Given the description of an element on the screen output the (x, y) to click on. 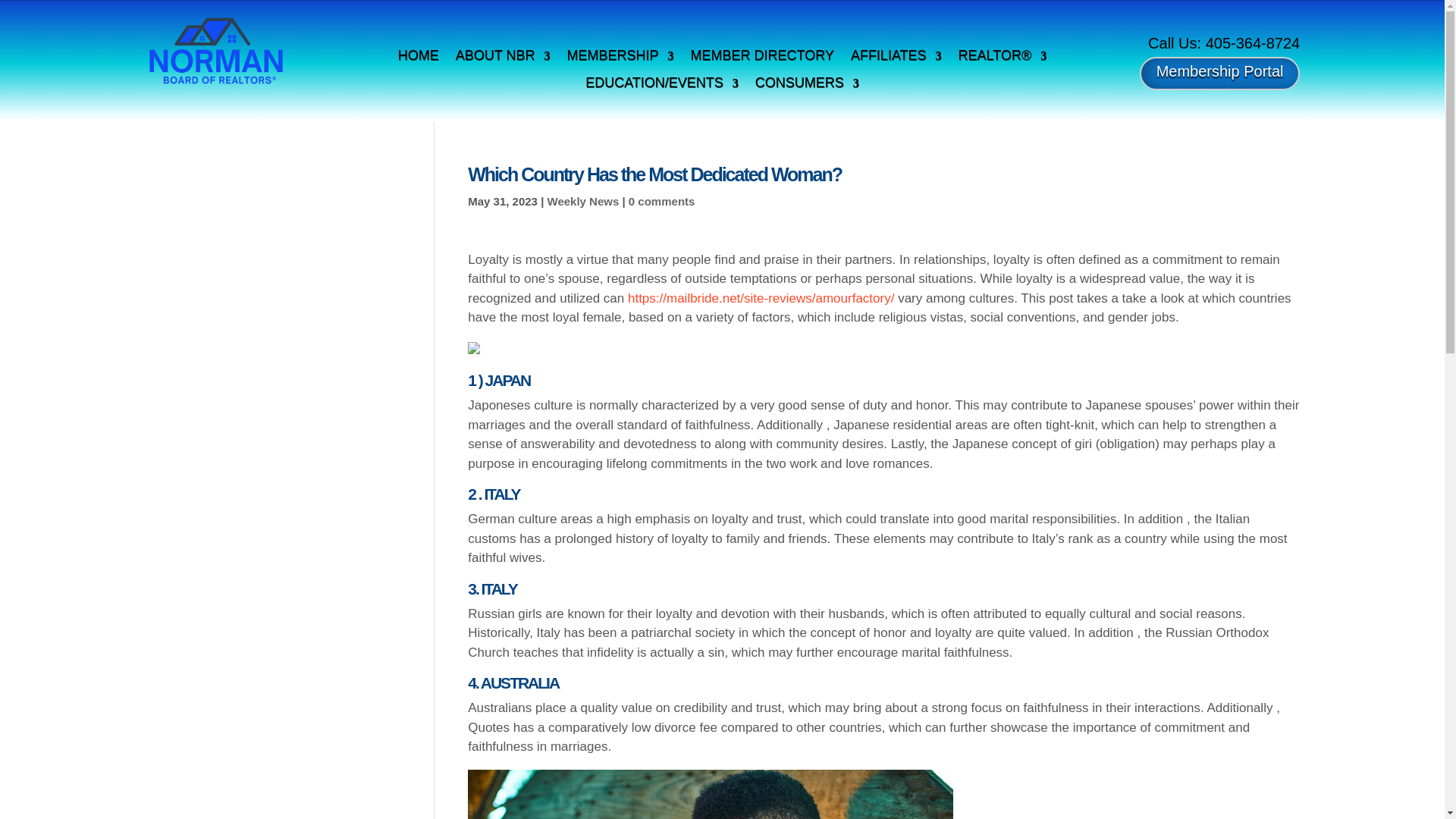
CONSUMERS (807, 86)
MEMBERSHIP (619, 58)
HOME (418, 58)
MEMBER DIRECTORY (761, 58)
ABOUT NBR (502, 58)
AFFILIATES (896, 58)
NBR LOGO 22 (215, 50)
